Given the description of an element on the screen output the (x, y) to click on. 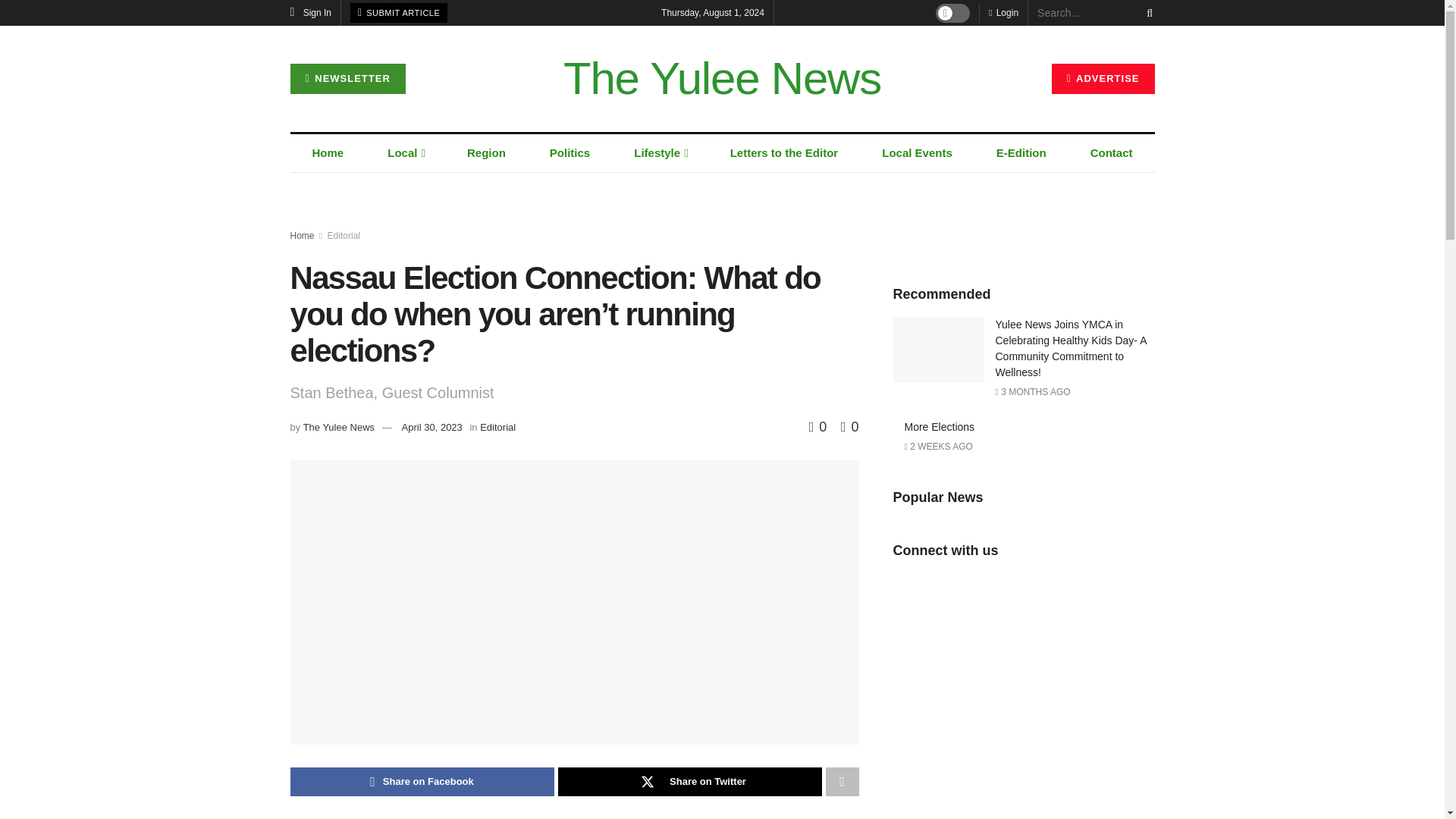
Politics (569, 152)
Lifestyle (659, 152)
Region (486, 152)
Sign In (310, 12)
ADVERTISE (1102, 78)
Home (327, 152)
NEWSLETTER (346, 78)
SUBMIT ARTICLE (398, 12)
Local (405, 152)
Login (1002, 12)
The Yulee News (721, 78)
